Given the description of an element on the screen output the (x, y) to click on. 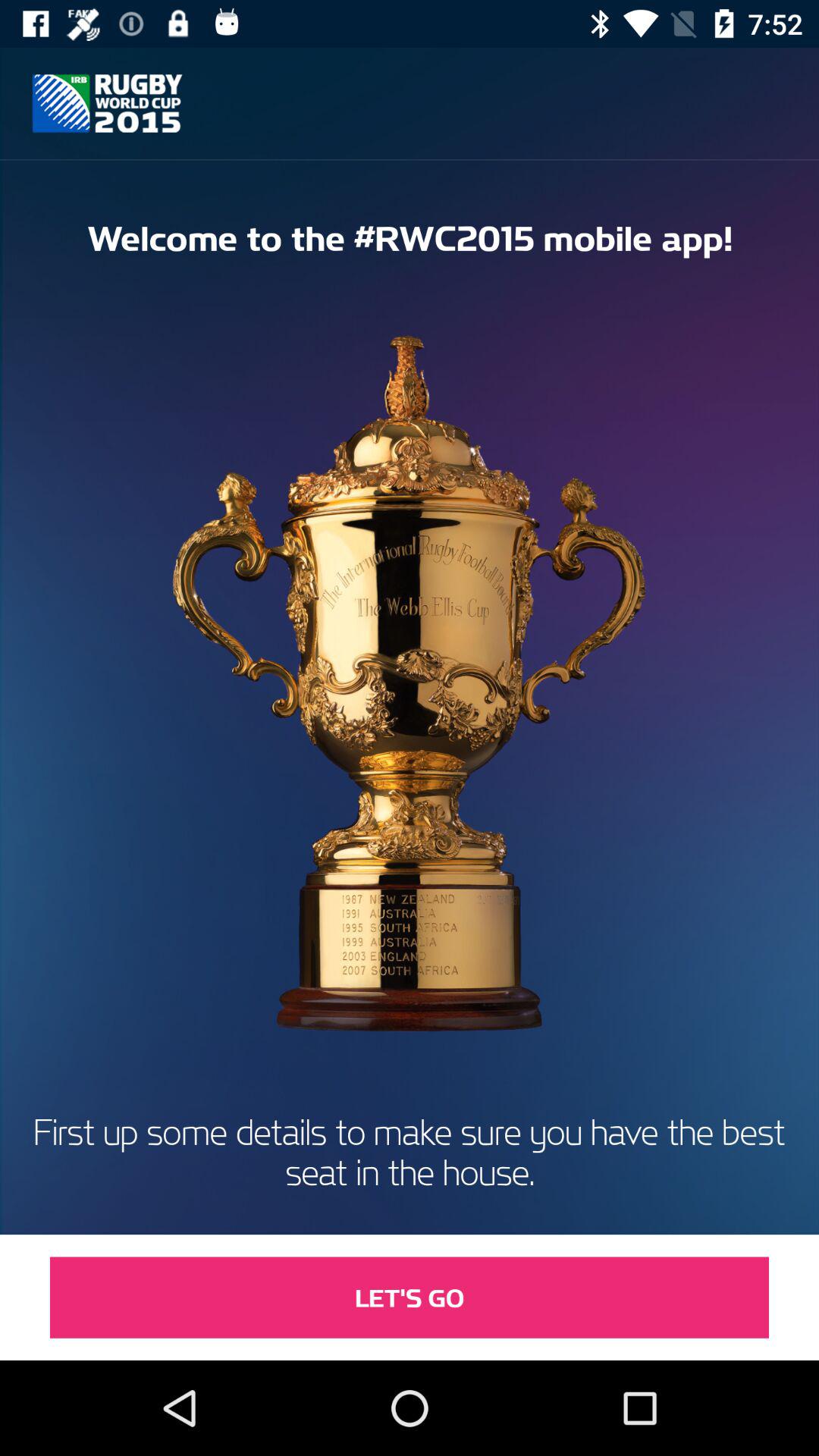
turn off item below first up some (409, 1297)
